Given the description of an element on the screen output the (x, y) to click on. 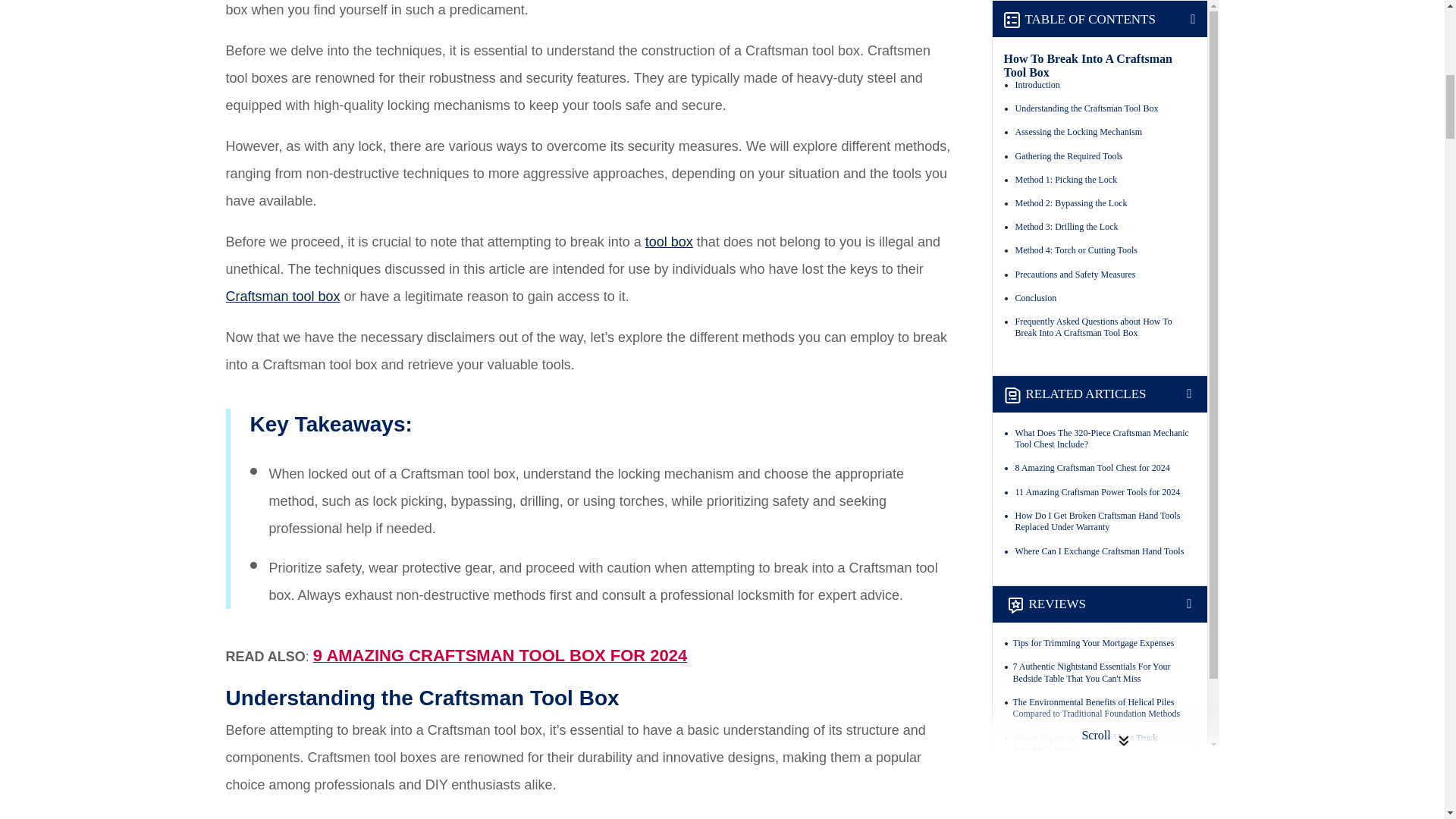
Craftsman tool box (282, 296)
tool box (669, 241)
